Given the description of an element on the screen output the (x, y) to click on. 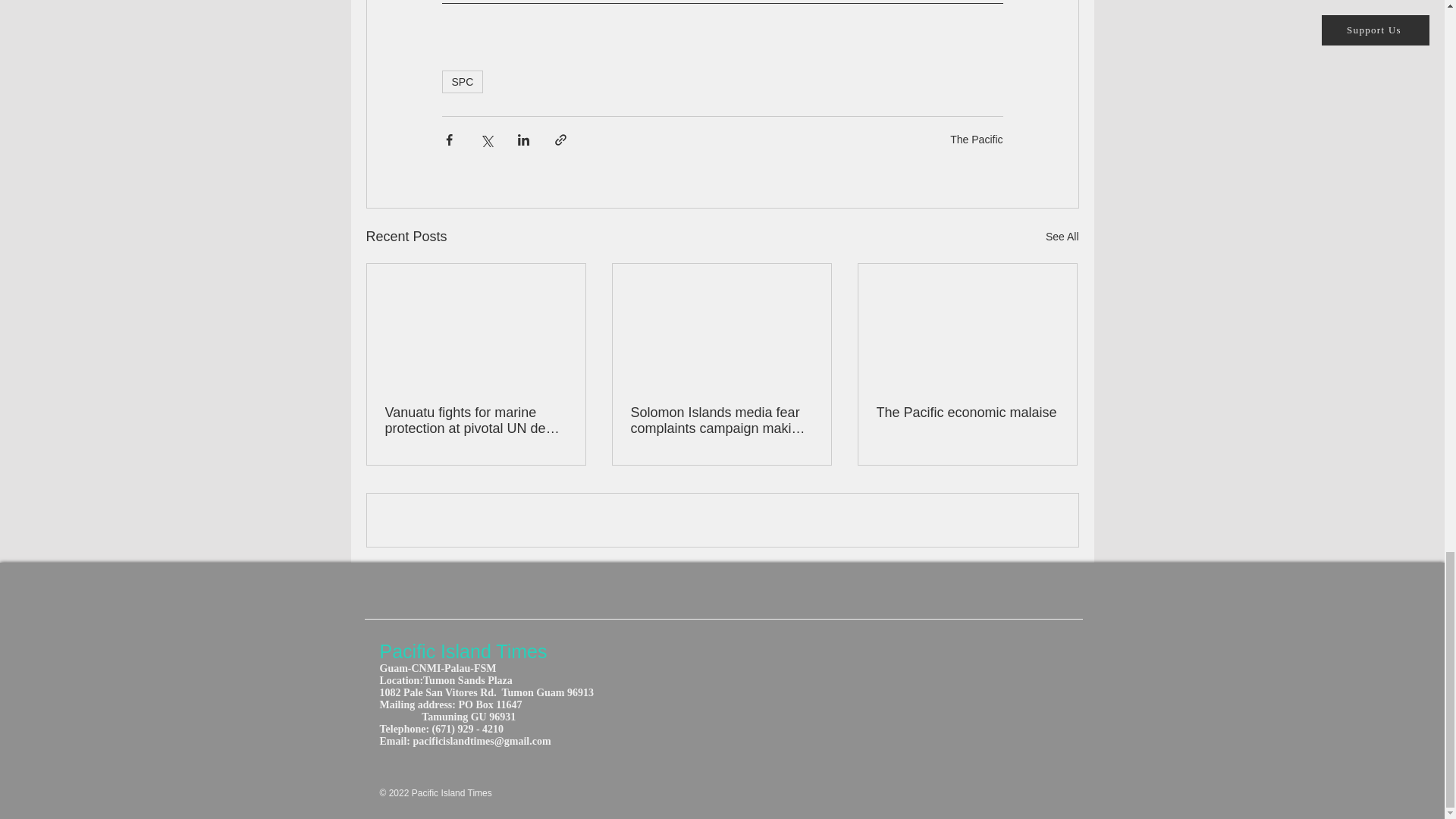
SPC (462, 81)
See All (1061, 237)
The Pacific (976, 138)
